Given the description of an element on the screen output the (x, y) to click on. 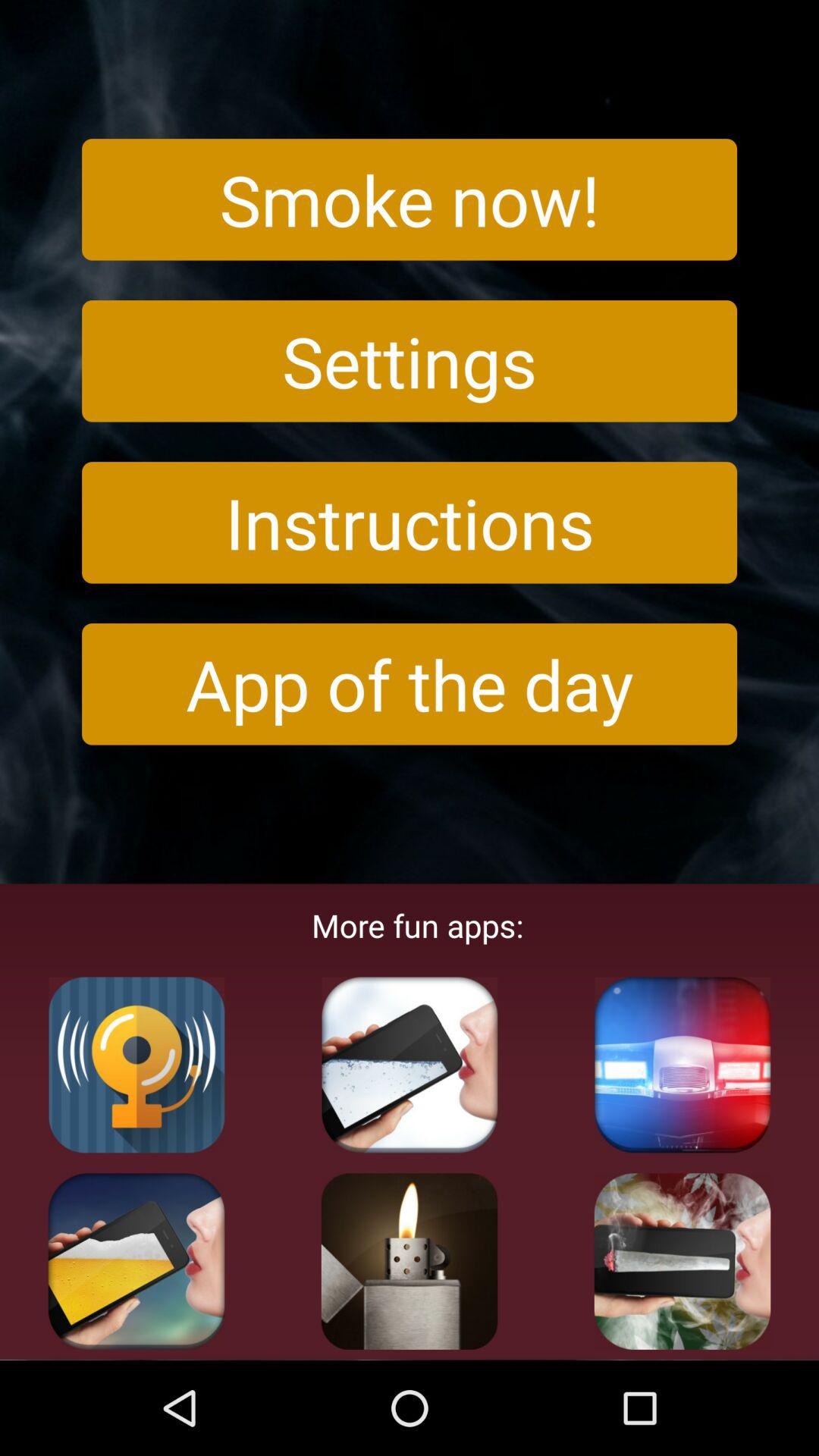
share the article (409, 1261)
